Given the description of an element on the screen output the (x, y) to click on. 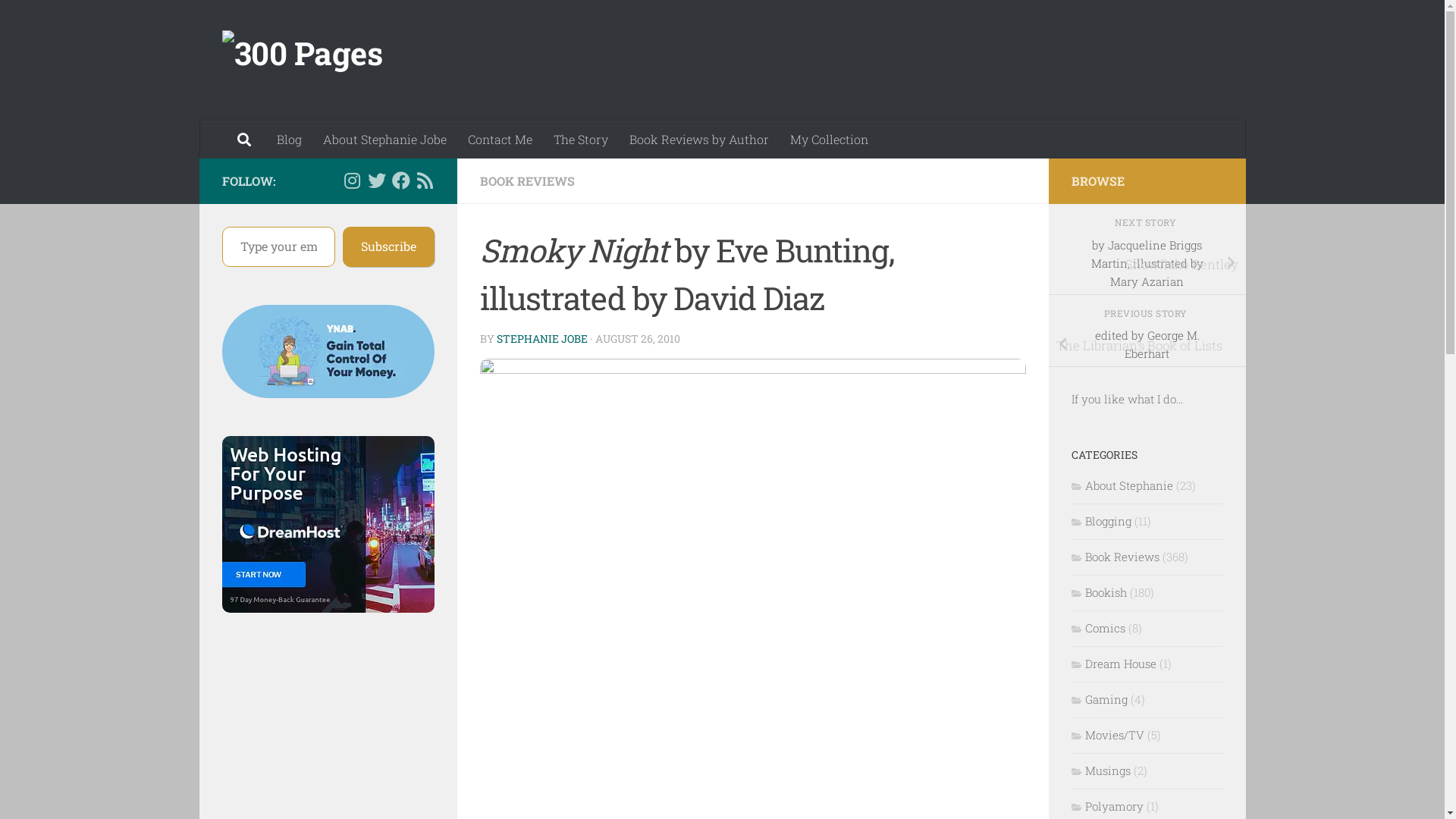
Follow us on Instagram Element type: hover (351, 180)
Follow us on RSS Element type: hover (424, 180)
Gaming Element type: text (1098, 699)
Book Reviews by Author Element type: text (698, 139)
Movies/TV Element type: text (1106, 735)
The Story Element type: text (580, 139)
Bookish Element type: text (1098, 592)
My Collection Element type: text (828, 139)
STEPHANIE JOBE Element type: text (540, 338)
Blogging Element type: text (1100, 521)
Polyamory Element type: text (1106, 806)
Book Reviews Element type: text (1114, 556)
About Stephanie Element type: text (1121, 485)
Skip to content Element type: text (64, 21)
Follow us on Facebook Element type: hover (400, 180)
300 Pages | Home page Element type: hover (301, 60)
Dream House Element type: text (1112, 663)
Follow us on Twitter Element type: hover (376, 180)
About Stephanie Jobe Element type: text (384, 139)
BOOK REVIEWS Element type: text (526, 180)
Contact Me Element type: text (499, 139)
Blog Element type: text (288, 139)
Musings Element type: text (1099, 770)
Comics Element type: text (1097, 628)
Subscribe Element type: text (388, 246)
